Given the description of an element on the screen output the (x, y) to click on. 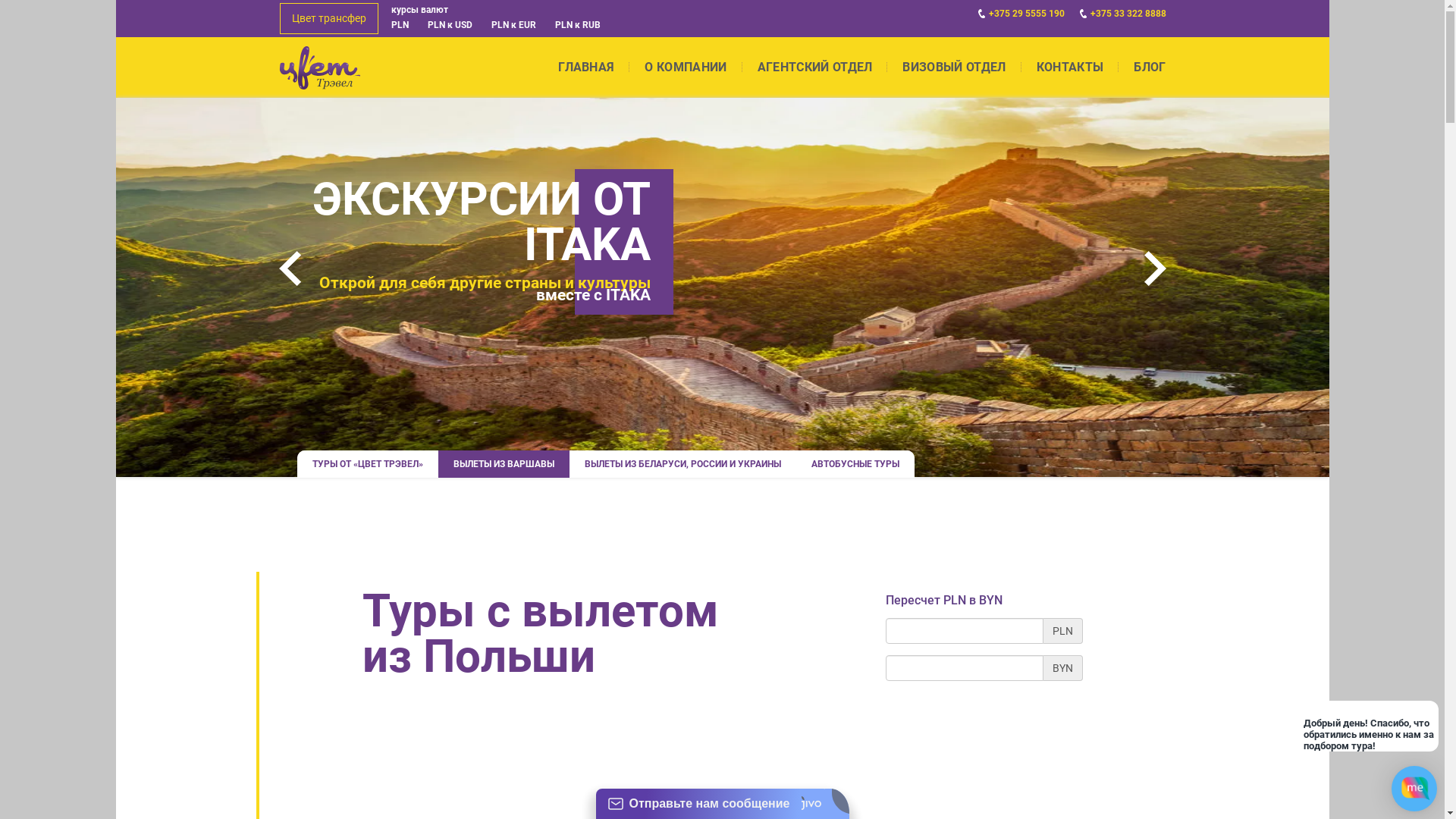
Next Element type: text (1154, 268)
Prev Element type: text (290, 268)
+375 29 5555 190 Element type: text (1021, 13)
+375 33 322 8888 Element type: text (1122, 13)
